Given the description of an element on the screen output the (x, y) to click on. 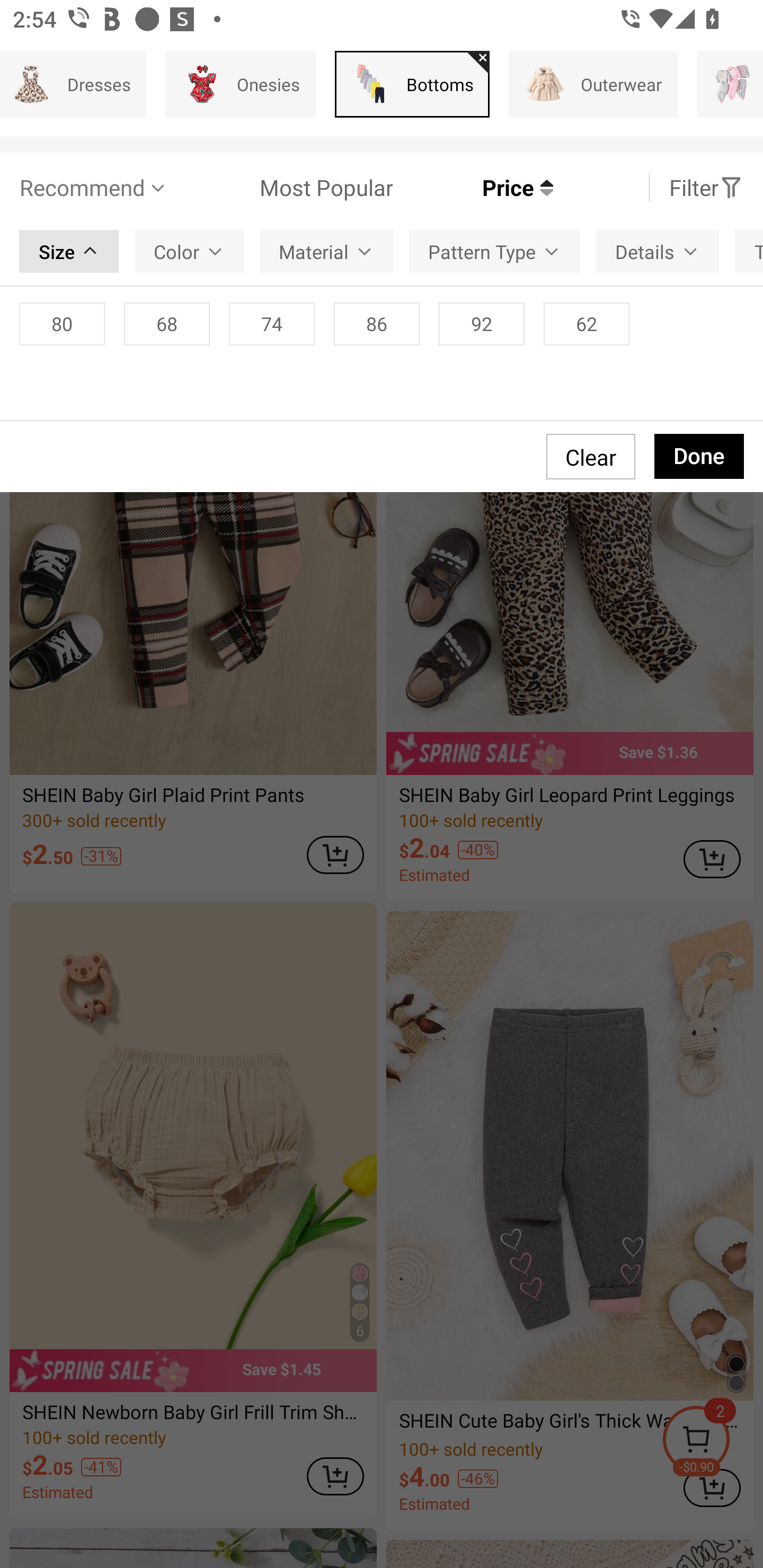
Dresses (73, 83)
Onesies (240, 83)
Bottoms (411, 83)
Outerwear (592, 83)
Recommend (93, 187)
Most Popular (280, 187)
Price (472, 187)
Filter (705, 187)
Size (69, 251)
Color (188, 251)
Material (325, 251)
Pattern Type (493, 251)
Details (656, 251)
